Given the description of an element on the screen output the (x, y) to click on. 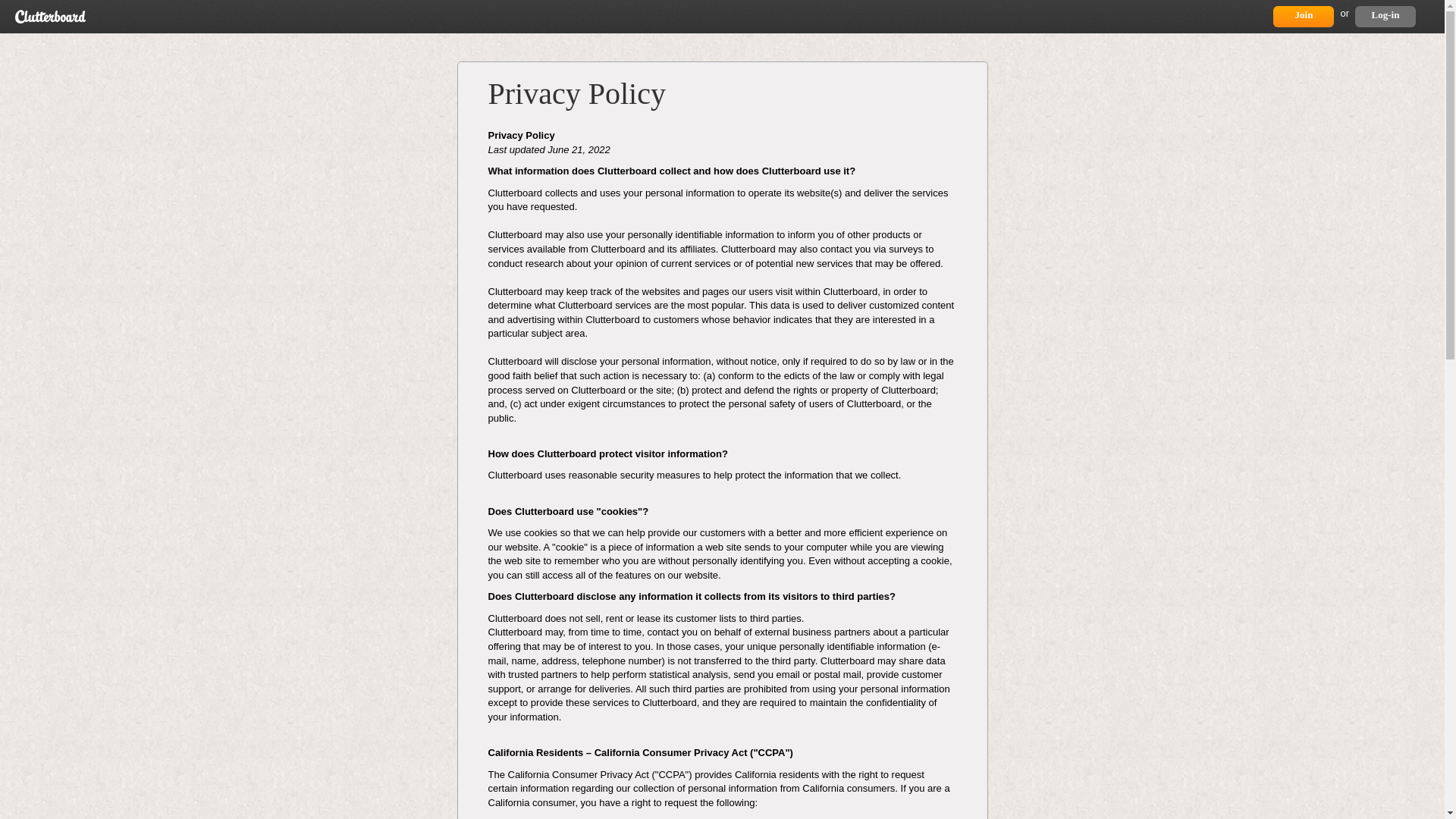
Log-in (1385, 16)
Clutterboard (49, 16)
Join (1302, 16)
Join (1302, 16)
Log-in (1385, 16)
